Given the description of an element on the screen output the (x, y) to click on. 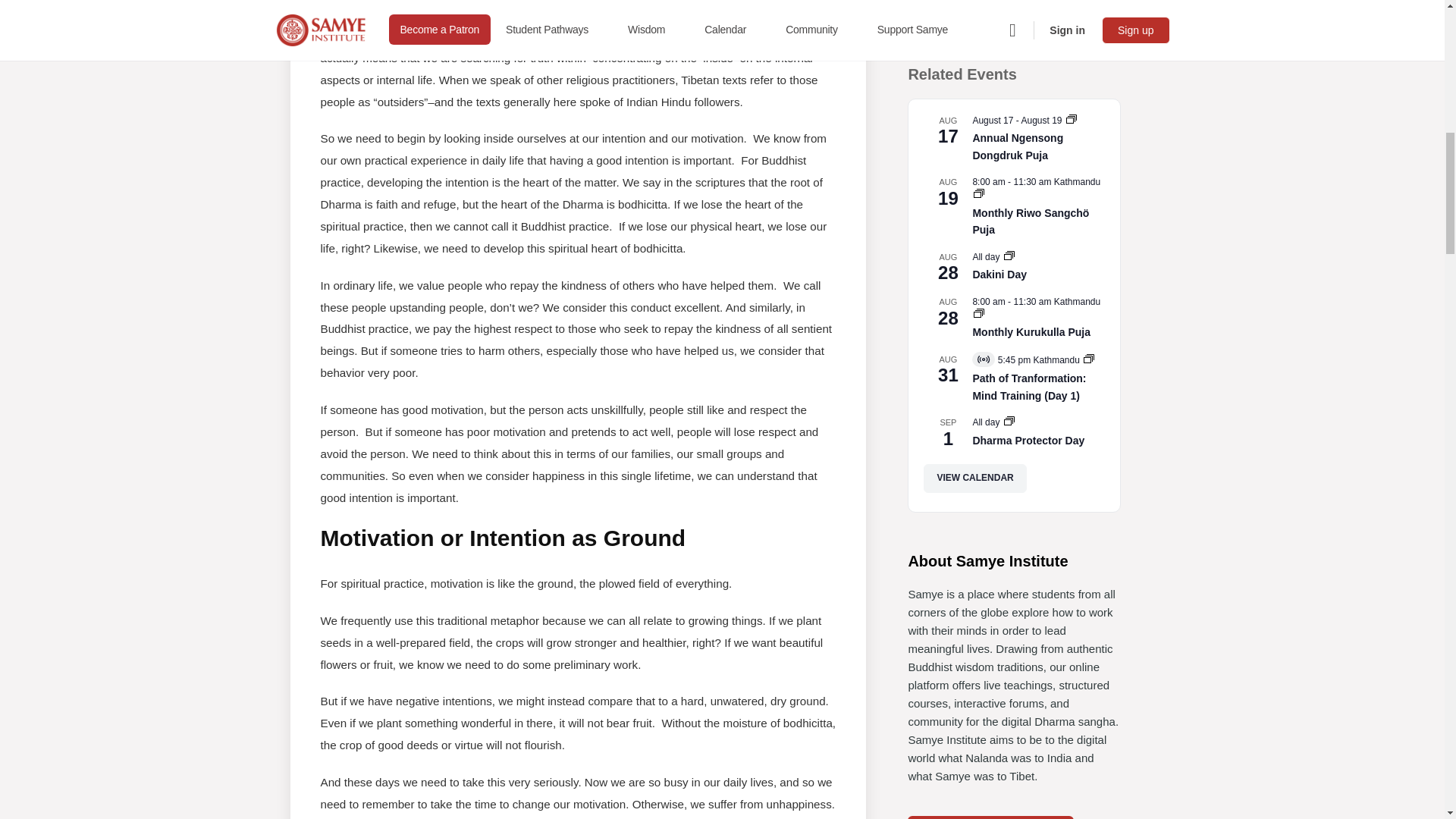
Event Series (1071, 118)
Event Series (979, 193)
Event Series (1088, 358)
Virtual (983, 359)
Monthly Kurukulla Puja (1031, 332)
Event Series (1009, 255)
Dakini Day (999, 274)
Event Series (979, 312)
View more events. (974, 478)
Event Series (979, 194)
